Given the description of an element on the screen output the (x, y) to click on. 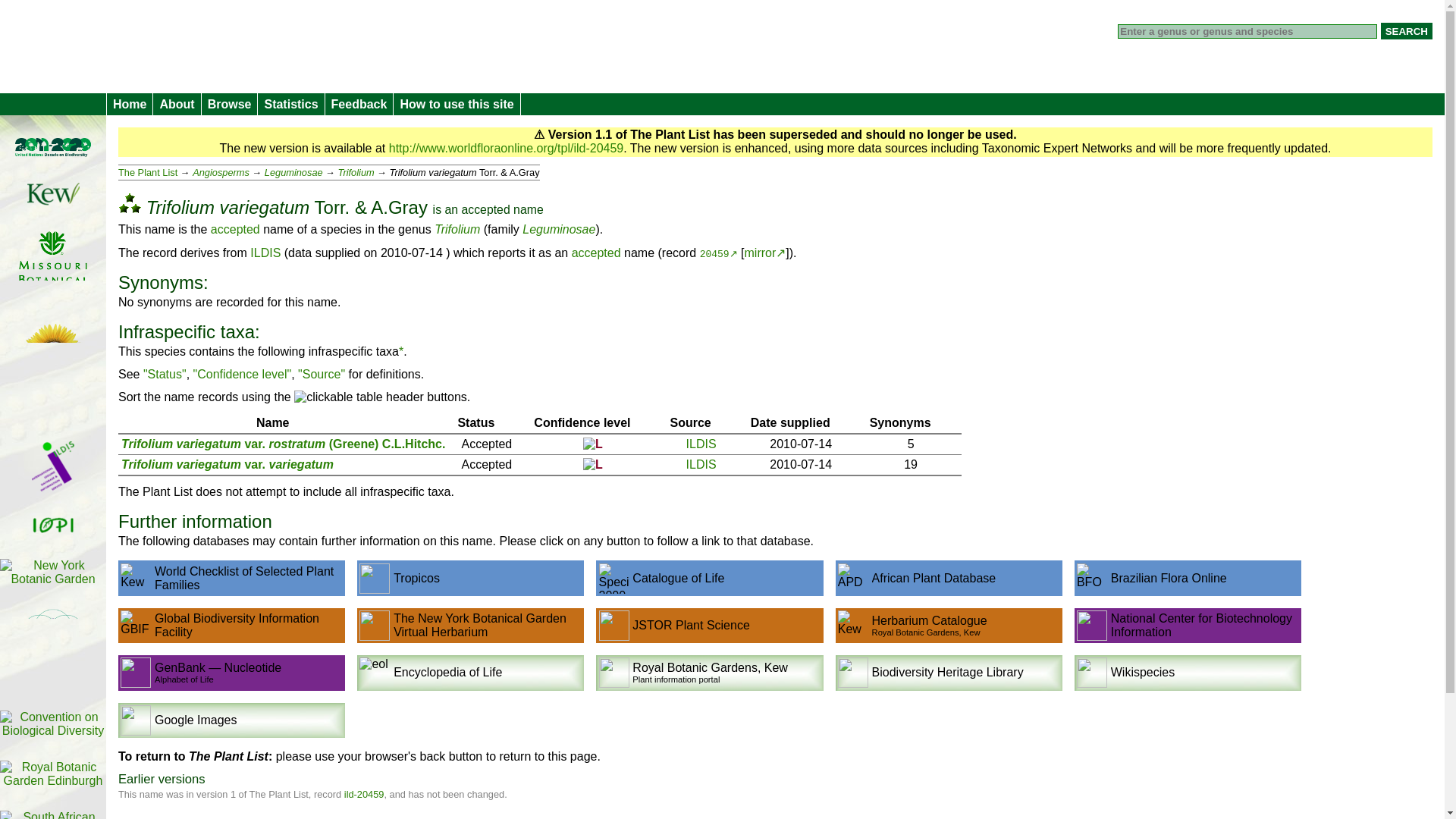
ILDIS (700, 443)
Trifolium (456, 228)
Feedback (358, 104)
mirror (765, 252)
Trifolium variegatum var. variegatum (226, 463)
How to use this site (456, 104)
Trifolium (355, 172)
20459 (719, 254)
accepted (485, 209)
accepted (596, 252)
